Given the description of an element on the screen output the (x, y) to click on. 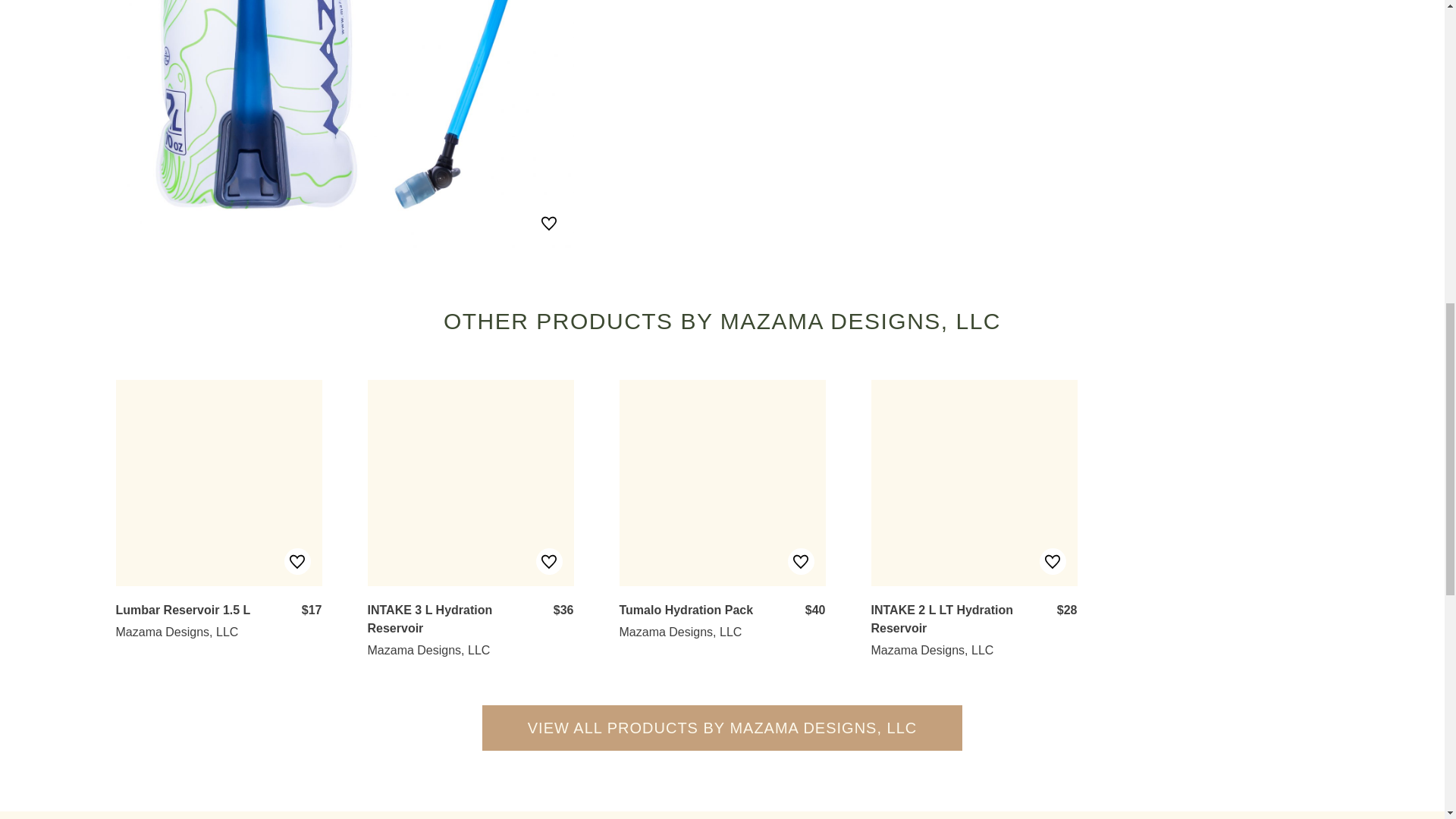
Mazama Designs, LLC (427, 649)
Mazama Designs, LLC (176, 631)
Lumbar Reservoir 1.5 L (182, 609)
Mazama Designs, LLC (679, 631)
Tumalo Hydration Pack (685, 609)
INTAKE 3 L Hydration Reservoir (429, 618)
